Given the description of an element on the screen output the (x, y) to click on. 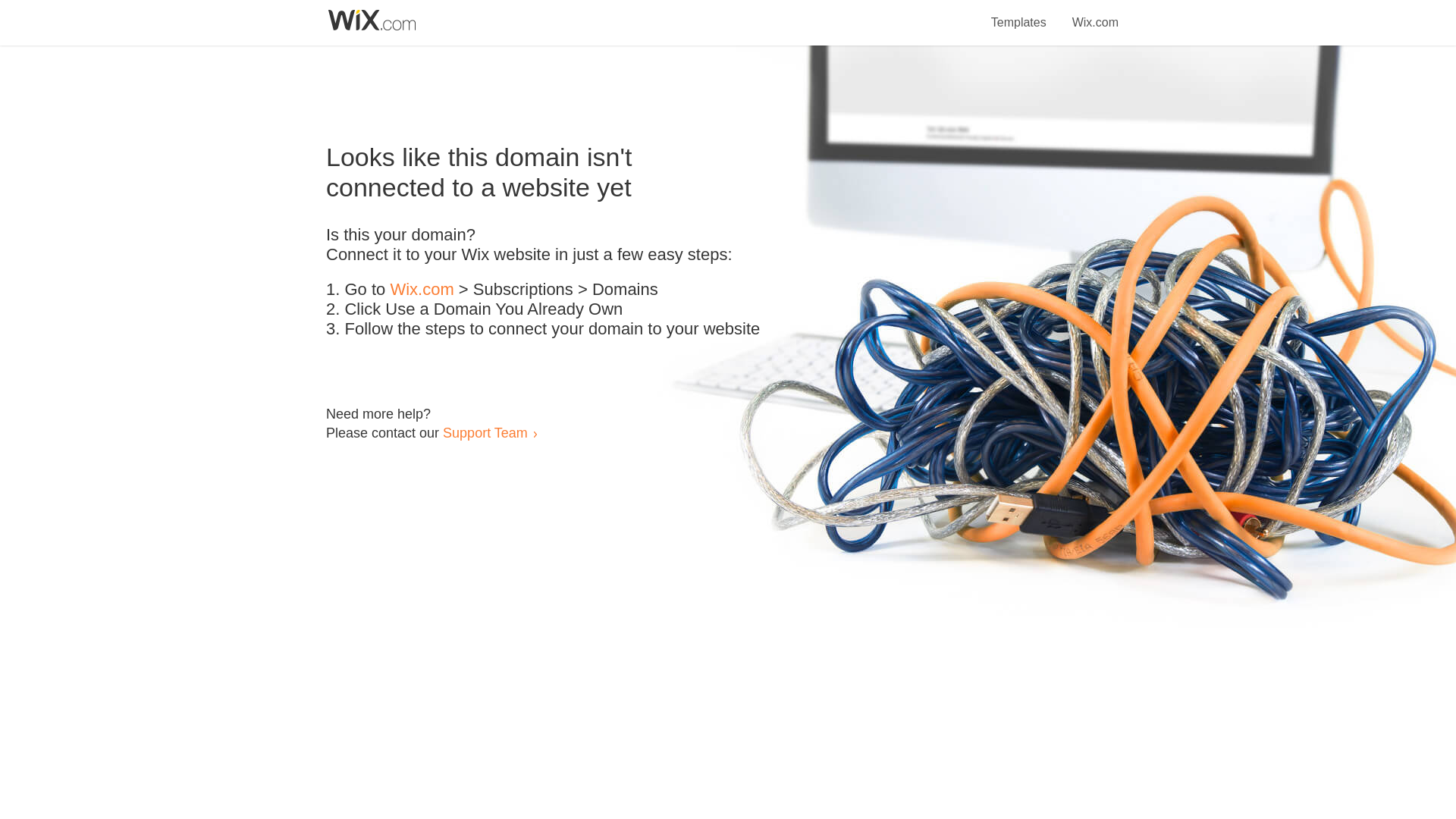
Wix.com (421, 289)
Wix.com (1095, 14)
Support Team (484, 432)
Templates (1018, 14)
